Given the description of an element on the screen output the (x, y) to click on. 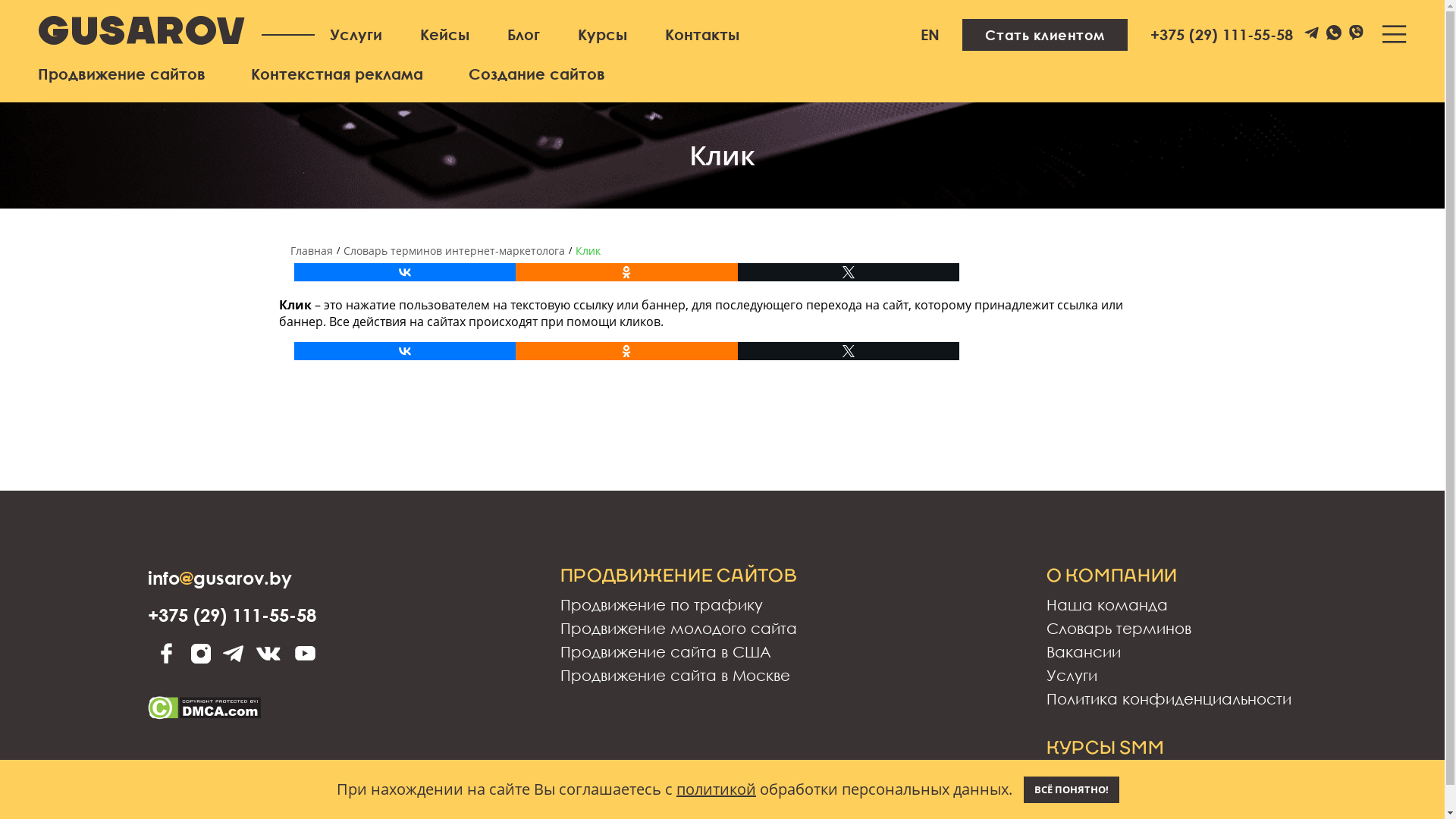
Twitter Element type: hover (848, 272)
info@gusarov.by Element type: text (219, 577)
+375 (29) 111-55-58 Element type: text (1221, 34)
Twitter Element type: hover (848, 351)
GUSAROV Element type: text (141, 34)
EN Element type: text (929, 34)
DMCA.com Protection Status Element type: hover (203, 704)
+375 (29) 111-55-58 Element type: text (231, 614)
